Given the description of an element on the screen output the (x, y) to click on. 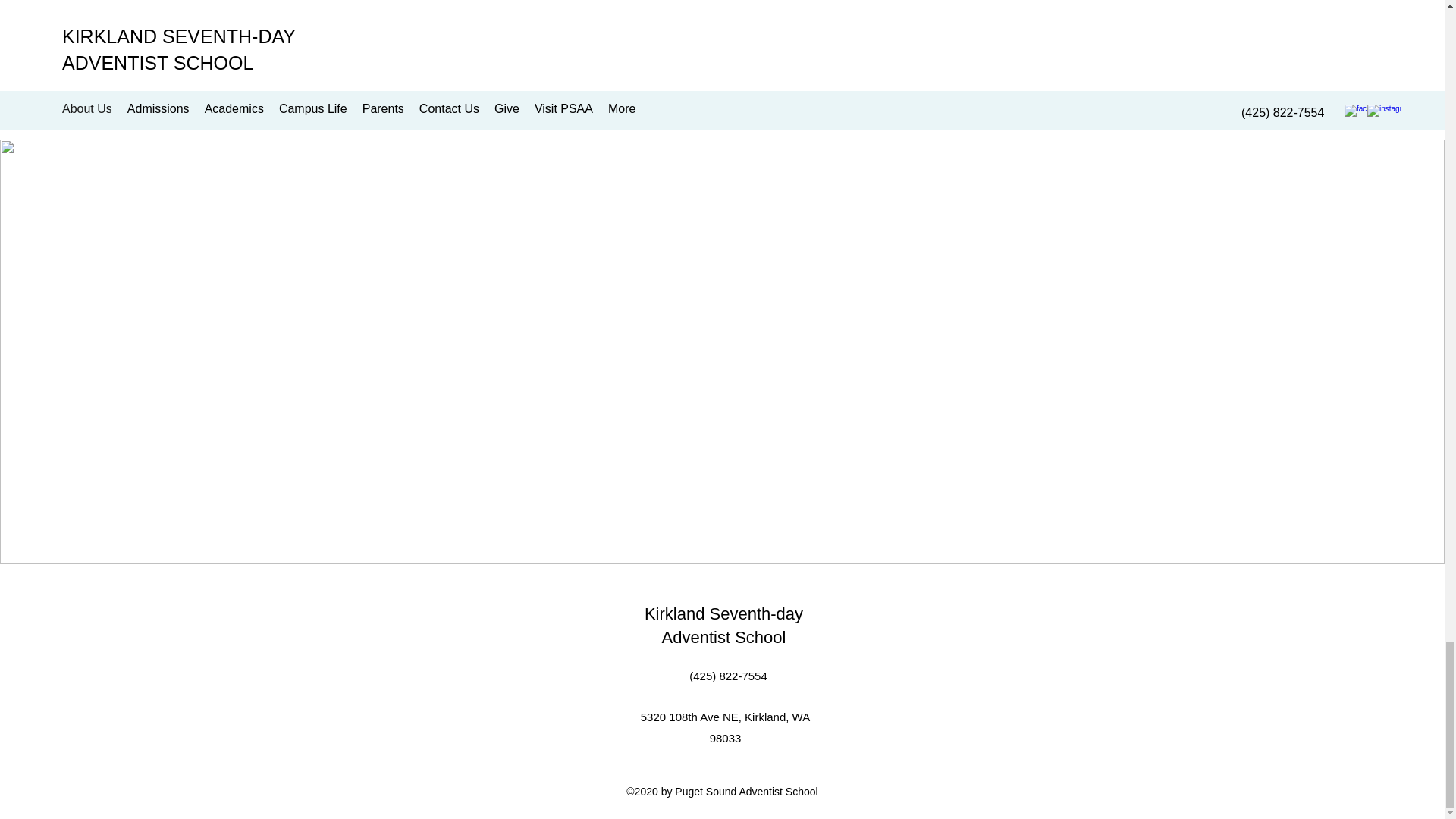
Adventist School (724, 637)
Kirkland Seventh-day (724, 613)
